Given the description of an element on the screen output the (x, y) to click on. 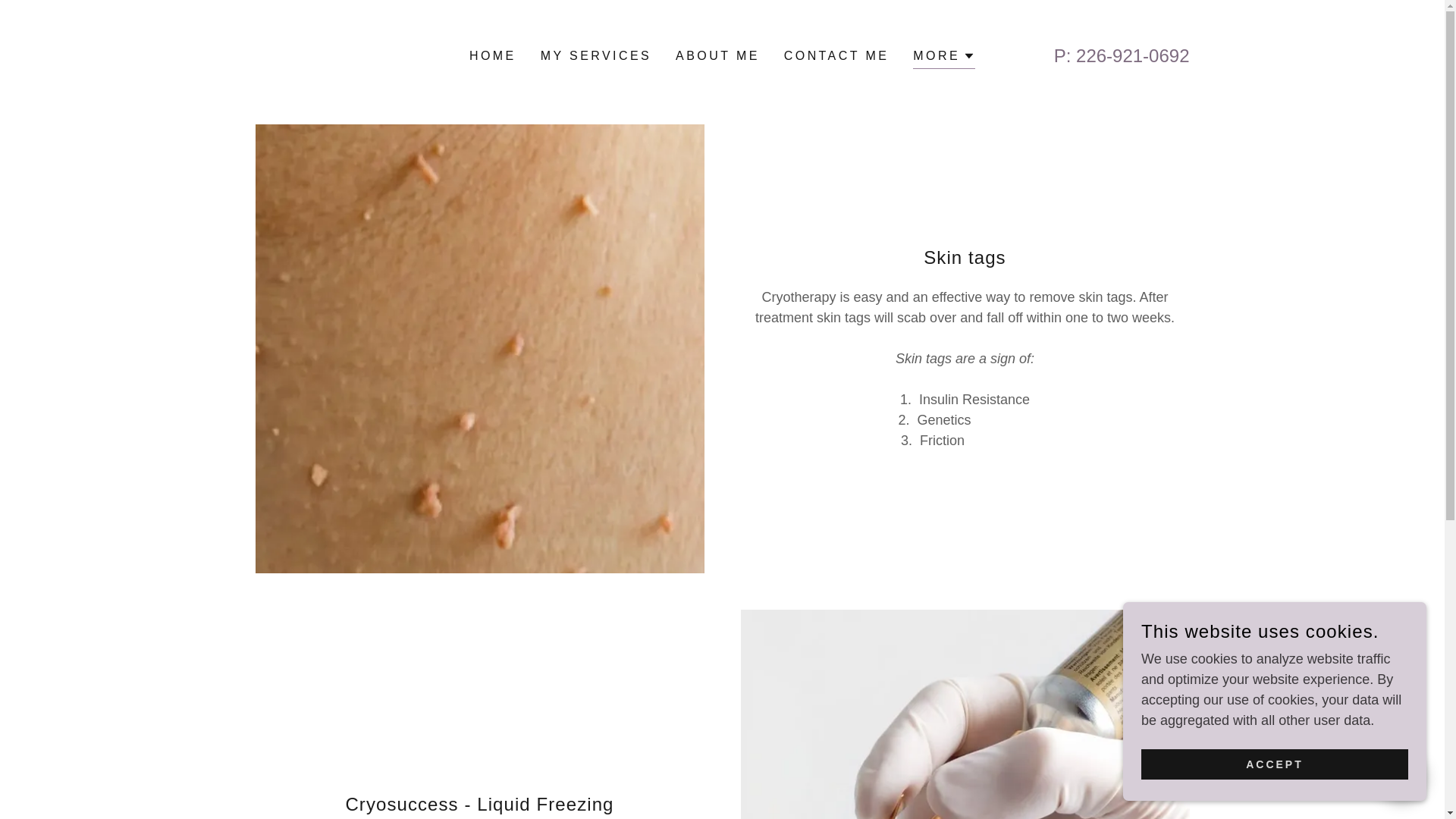
226-921-0692 (1132, 55)
MORE (943, 57)
ACCEPT (1274, 764)
CONTACT ME (835, 55)
HOME (492, 55)
MY SERVICES (595, 55)
ABOUT ME (717, 55)
